Given the description of an element on the screen output the (x, y) to click on. 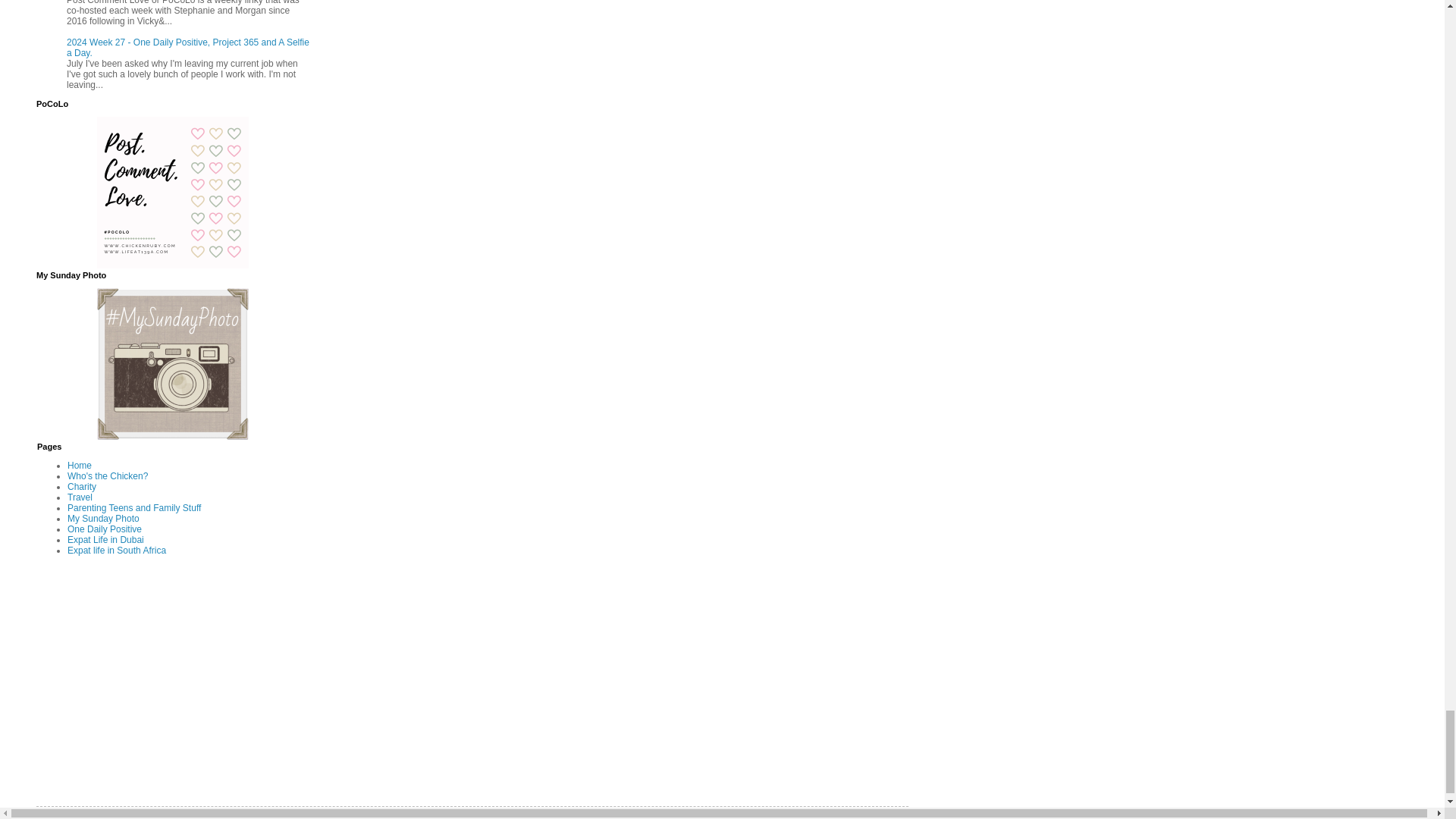
Darren Coleshill (172, 436)
PoCoLo  (172, 265)
